Given the description of an element on the screen output the (x, y) to click on. 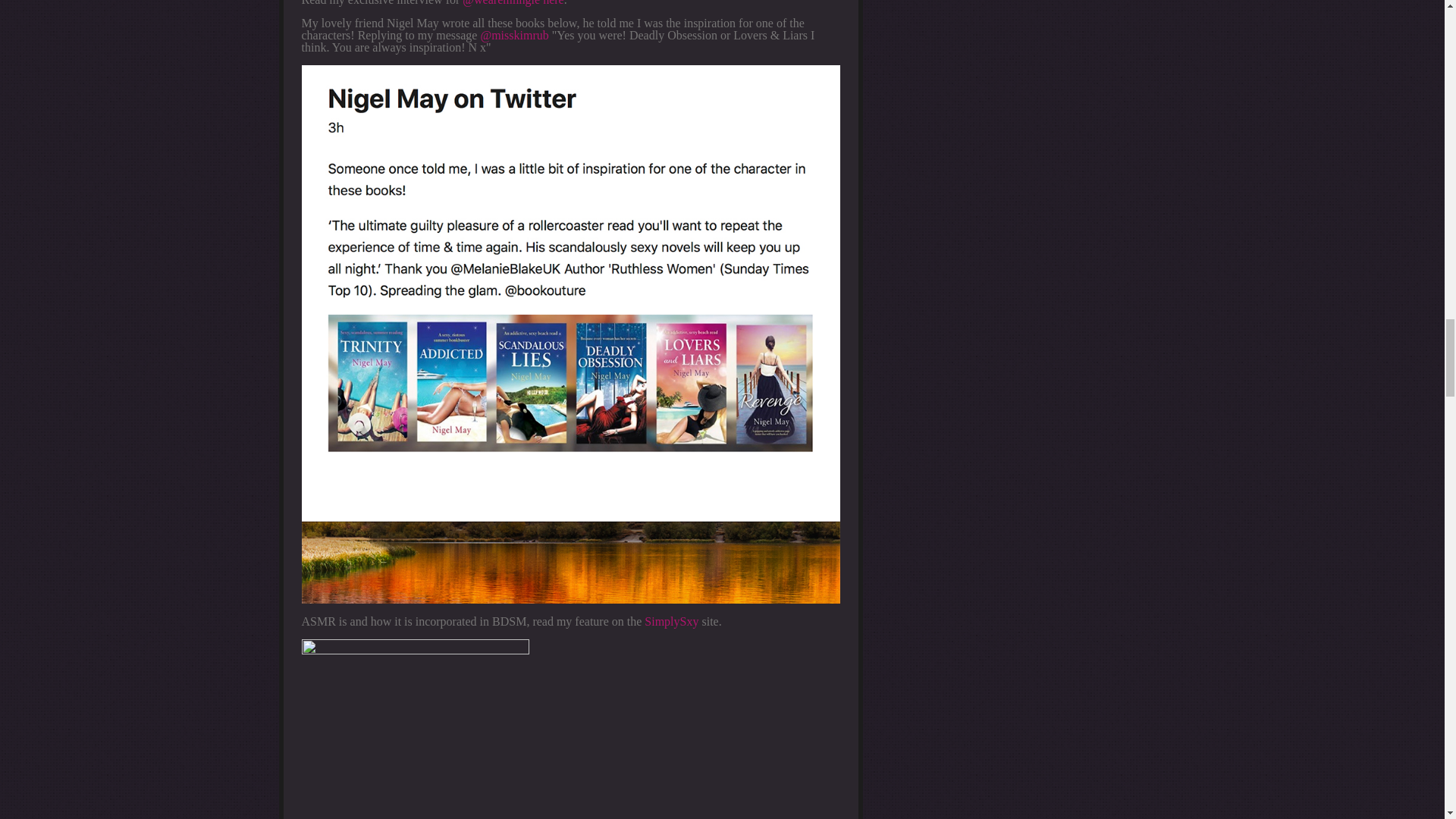
here (553, 2)
SimplySxy (671, 621)
